Given the description of an element on the screen output the (x, y) to click on. 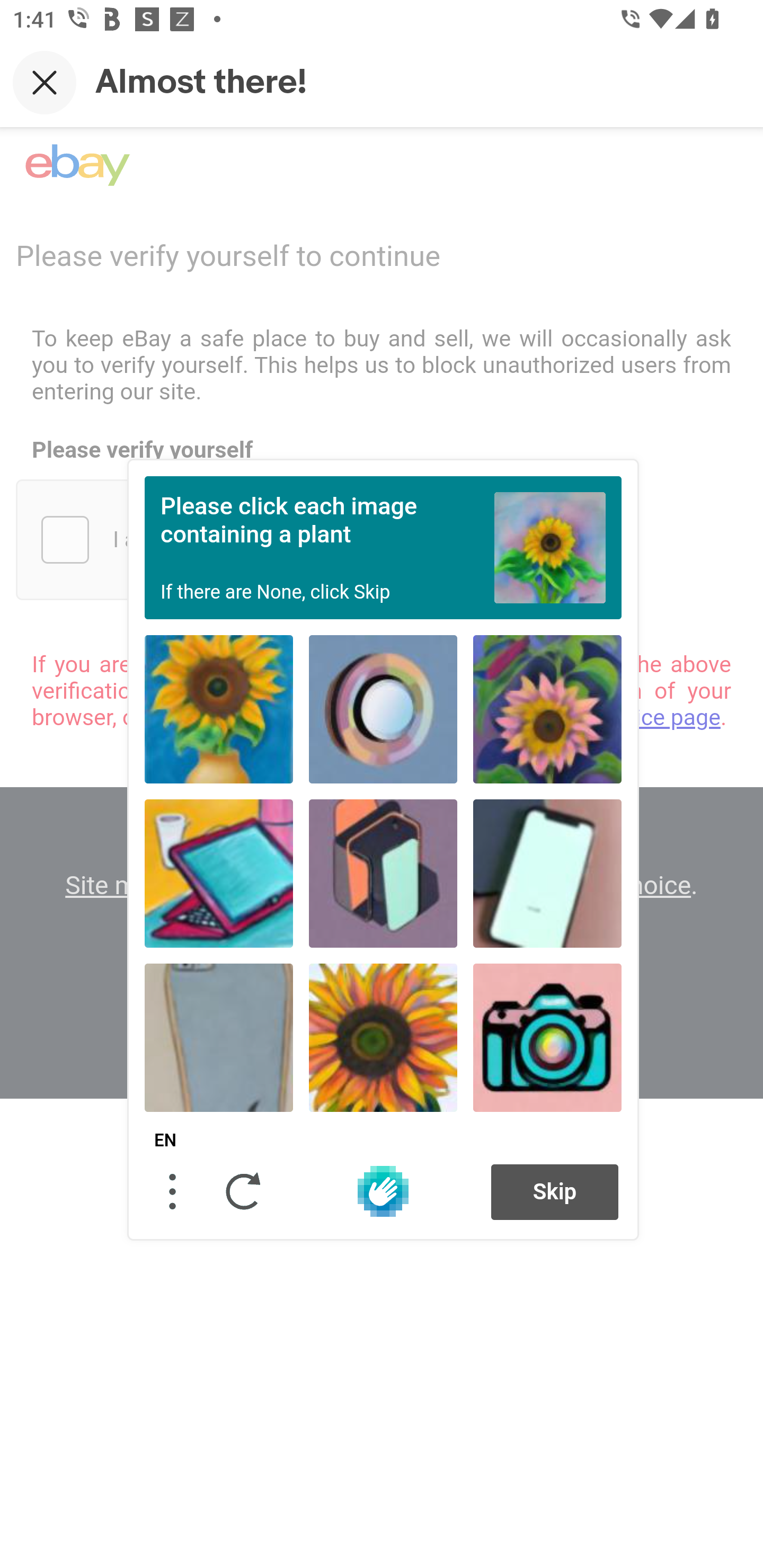
Close (44, 82)
eBay Home (77, 165)
Example image 1 (549, 546)
Challenge Image 1 (218, 708)
Challenge Image 2 (382, 708)
Challenge Image 3 (546, 708)
Challenge Image 4 (218, 873)
Challenge Image 5 (382, 873)
Challenge Image 6 (546, 873)
Challenge Image 7 (218, 1036)
Challenge Image 8 (382, 1036)
Challenge Image 9 (546, 1036)
Select a language English EN English (165, 1140)
English (165, 1140)
Skip Challenge (554, 1191)
Refresh Challenge. (243, 1190)
hCaptcha (382, 1190)
